Given the description of an element on the screen output the (x, y) to click on. 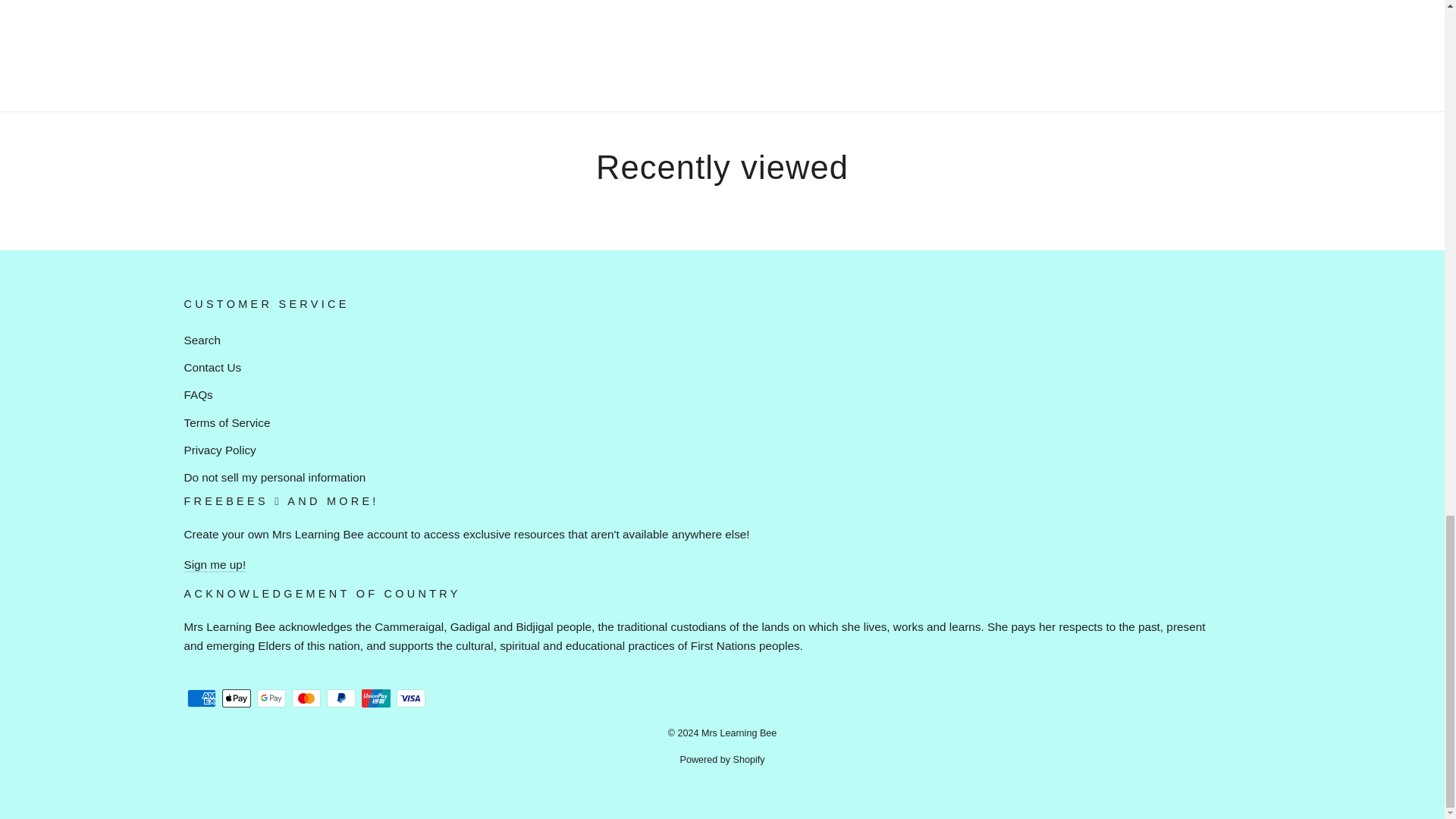
Union Pay (375, 698)
Apple Pay (235, 698)
PayPal (340, 698)
Mastercard (305, 698)
American Express (200, 698)
Google Pay (270, 698)
Create a new Miss Learning Bee account! (214, 564)
Visa (410, 698)
